Given the description of an element on the screen output the (x, y) to click on. 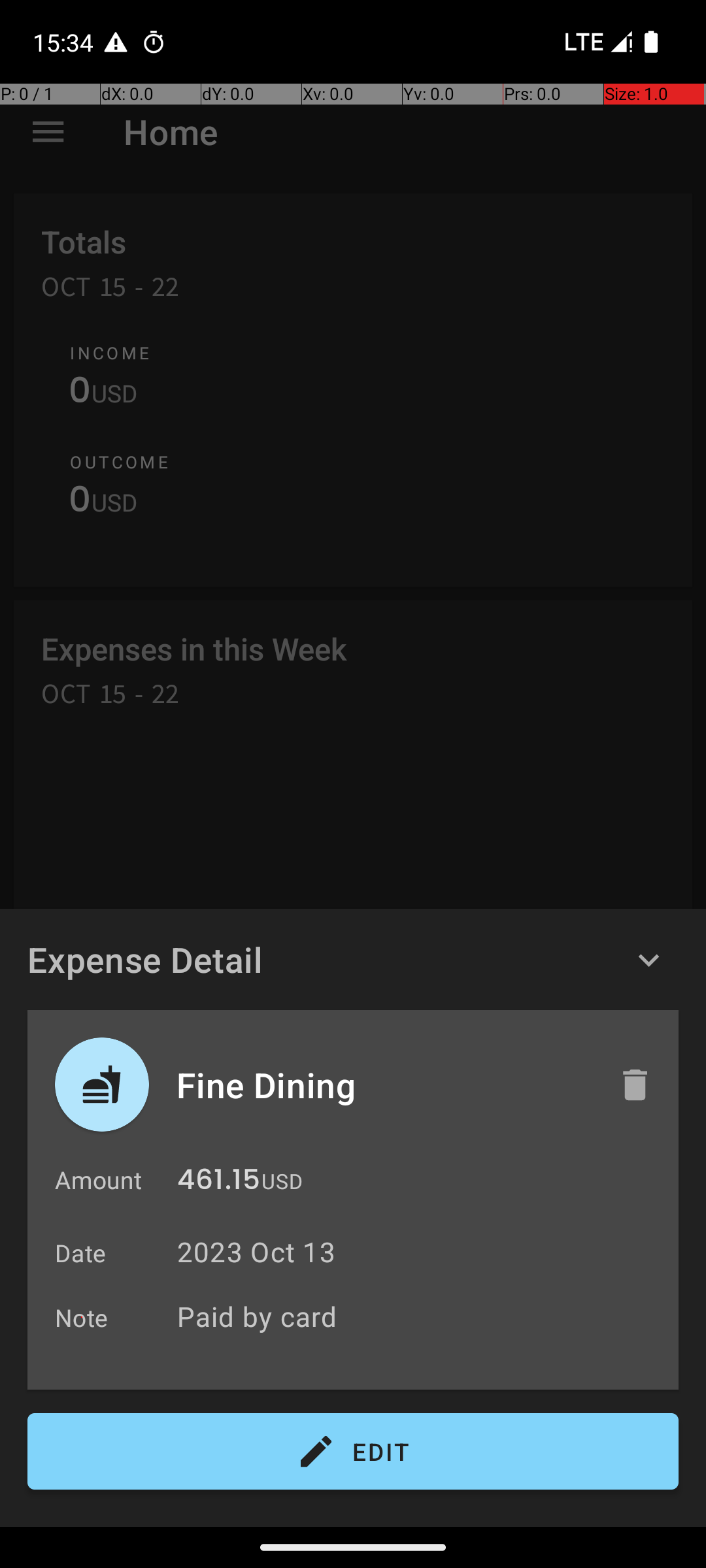
Fine Dining Element type: android.widget.TextView (383, 1084)
461.15 Element type: android.widget.TextView (218, 1182)
Paid by card Element type: android.widget.TextView (420, 1315)
